Given the description of an element on the screen output the (x, y) to click on. 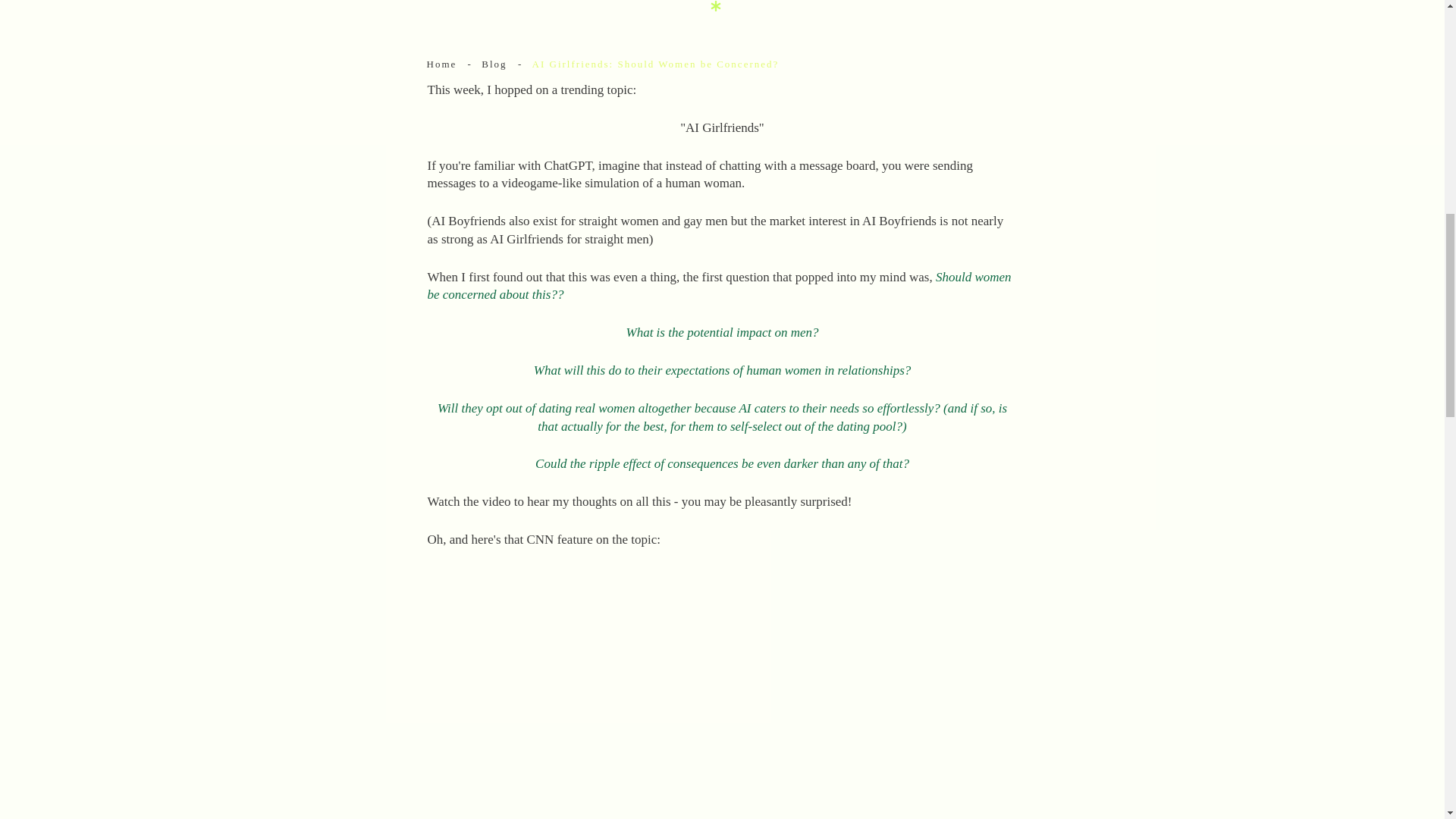
Home (441, 64)
Blog (493, 64)
